Given the description of an element on the screen output the (x, y) to click on. 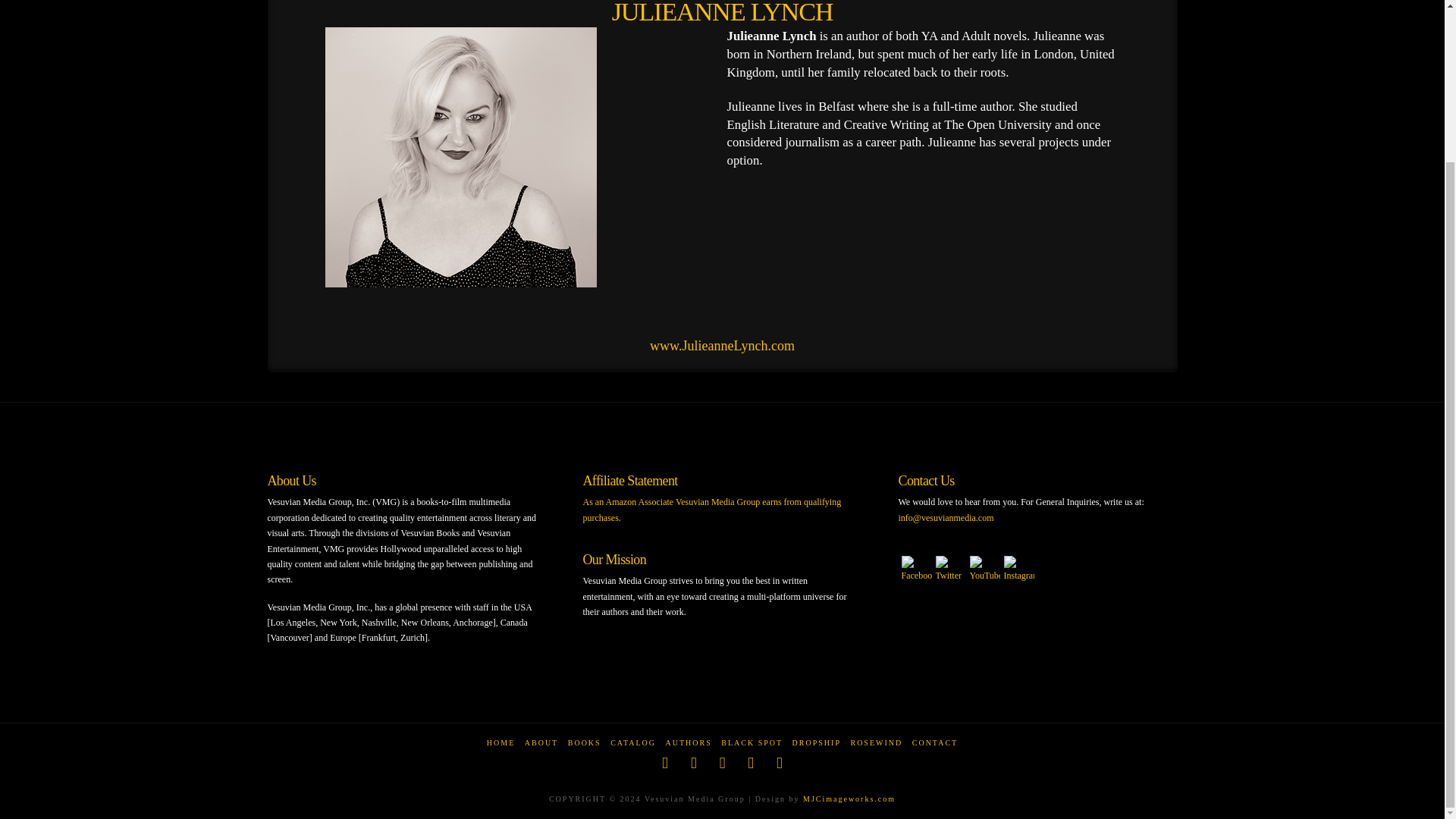
www.JulieanneLynch.com (721, 345)
julieanne2 (460, 163)
Instagram (1018, 569)
Twitter (951, 569)
Facebook (916, 569)
YouTube (983, 569)
